Given the description of an element on the screen output the (x, y) to click on. 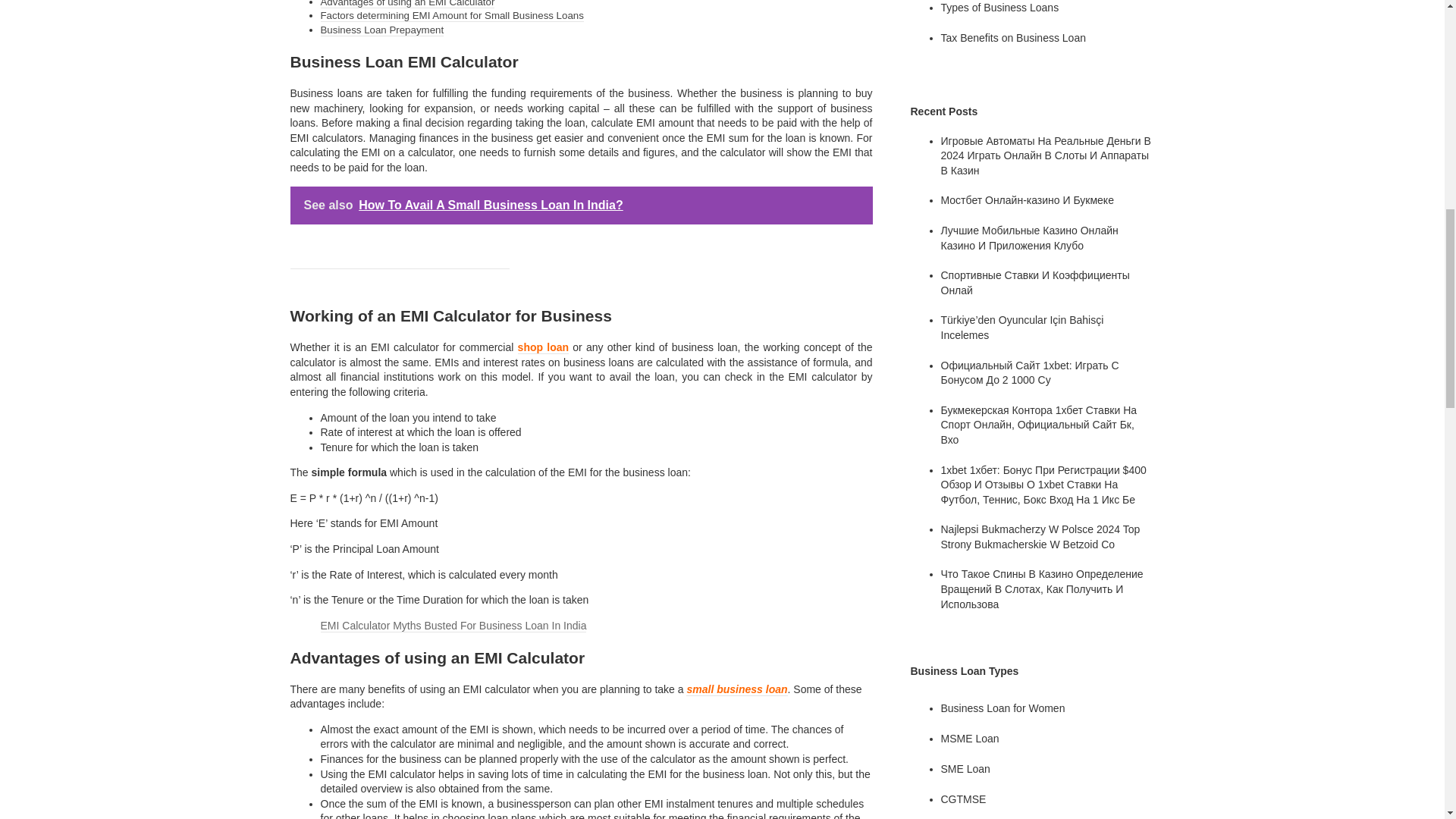
Factors determining EMI Amount for Small Business Loans (451, 15)
Factors determining EMI Amount for Small Business Loans (451, 15)
See also  How To Avail A Small Business Loan In India? (580, 205)
small business loan (736, 689)
EMI Calculator Myths Busted For Business Loan In India (453, 625)
Business Loan Prepayment  (382, 30)
shop loan (543, 347)
Advantages of using an EMI Calculator (407, 4)
Advantages of using an EMI Calculator (407, 4)
Business Loan Prepayment (382, 30)
